Given the description of an element on the screen output the (x, y) to click on. 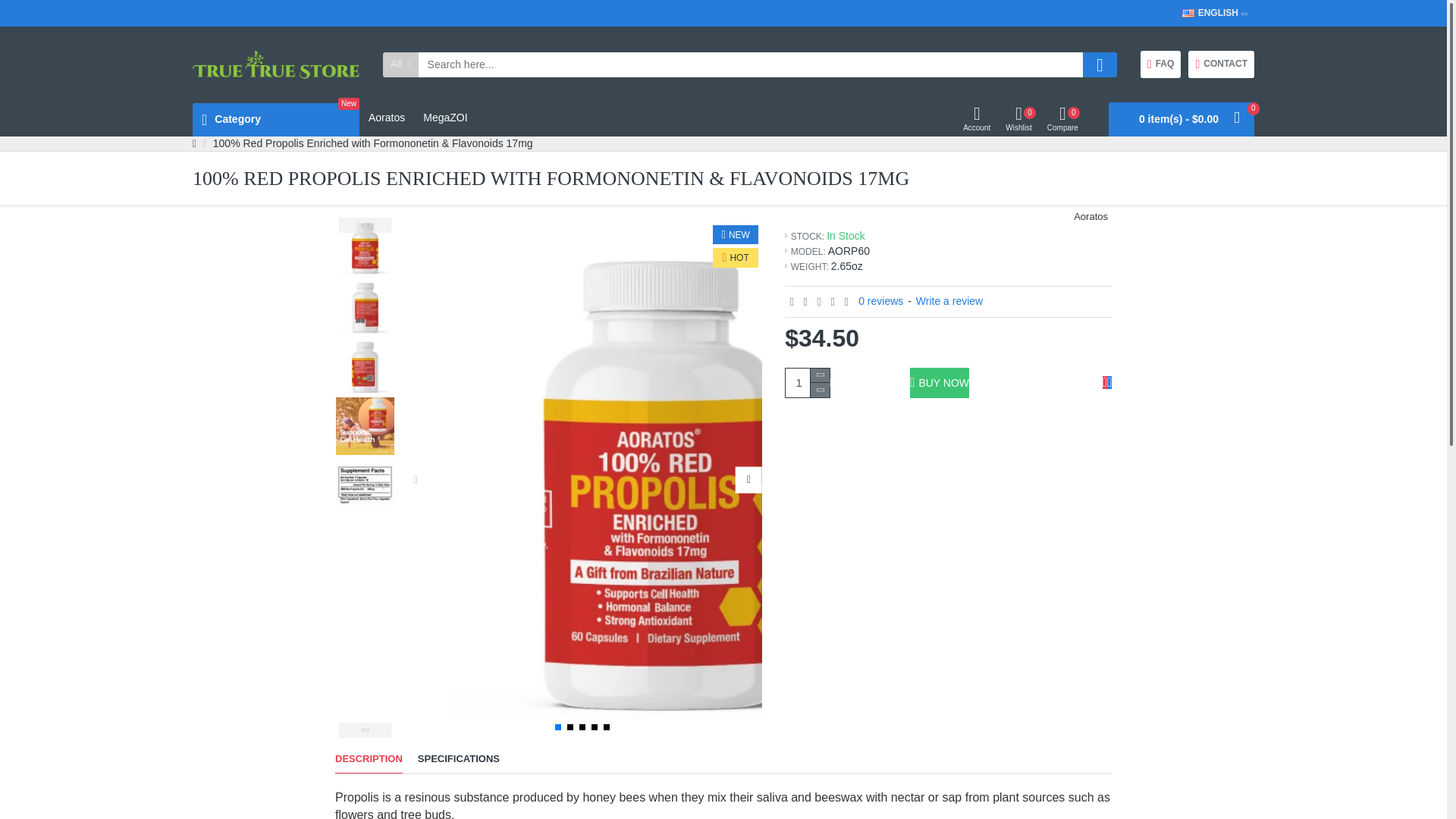
CONTACT (1220, 63)
ENGLISH (1210, 12)
1 (807, 382)
True True Store (275, 119)
FAQ (275, 63)
English (1160, 63)
